Given the description of an element on the screen output the (x, y) to click on. 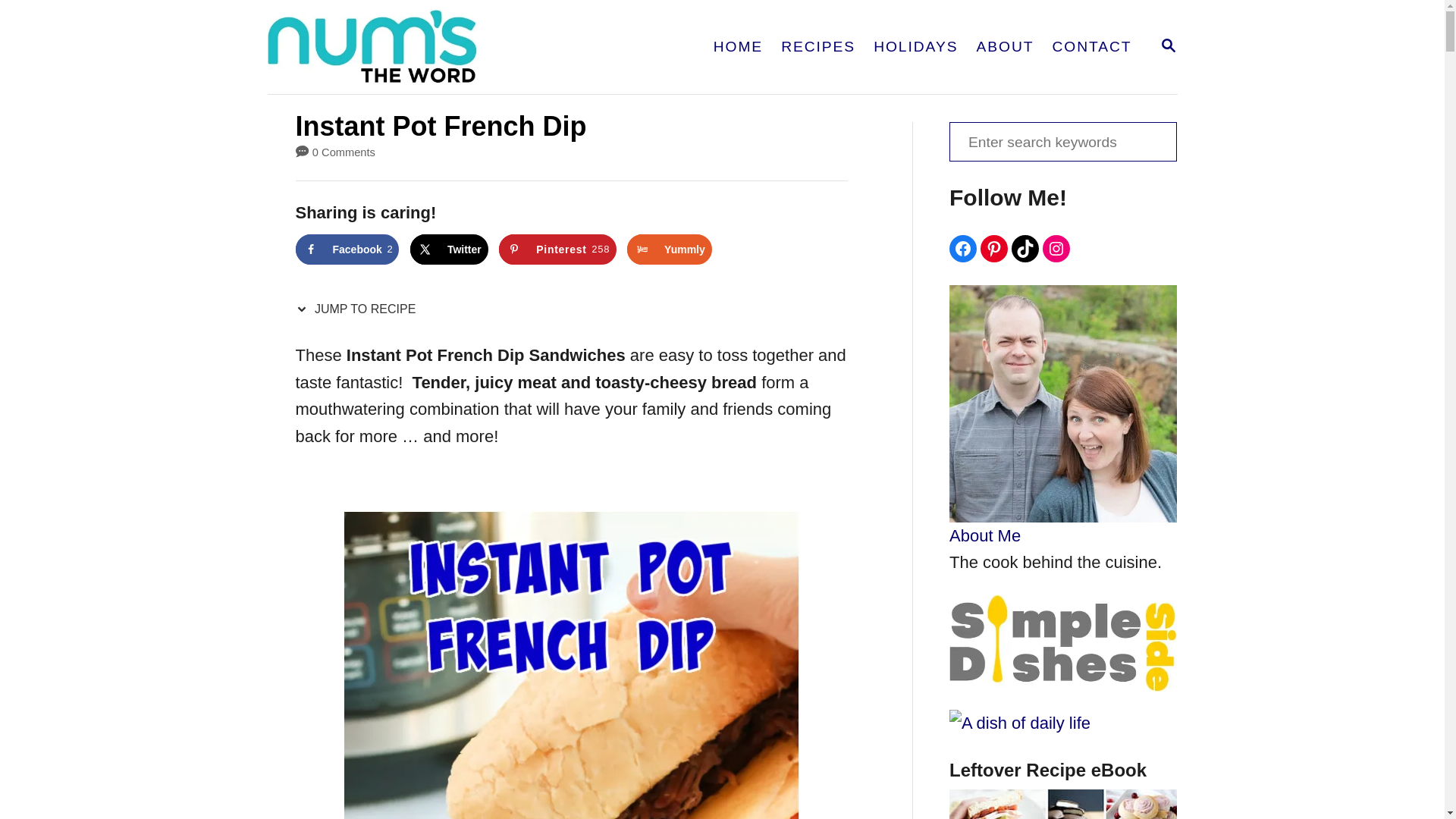
Share on X (448, 249)
Share on Facebook (1168, 46)
RECIPES (346, 249)
MAGNIFYING GLASS (817, 46)
HOME (1167, 45)
Search for: (737, 46)
Save to Pinterest (1062, 141)
Share on Yummly (557, 249)
Num's the Word (669, 249)
